Given the description of an element on the screen output the (x, y) to click on. 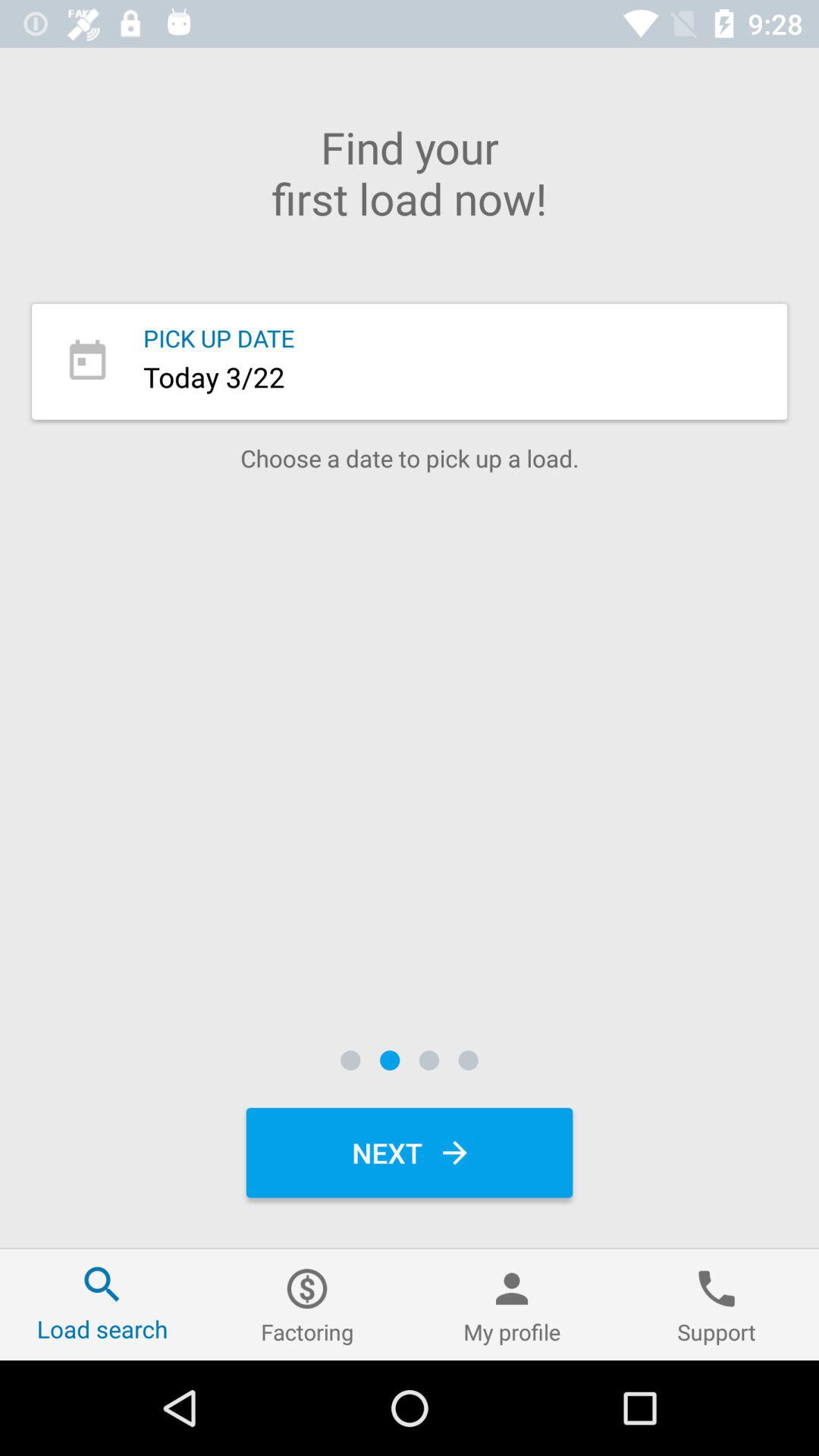
open the factoring (306, 1304)
